Given the description of an element on the screen output the (x, y) to click on. 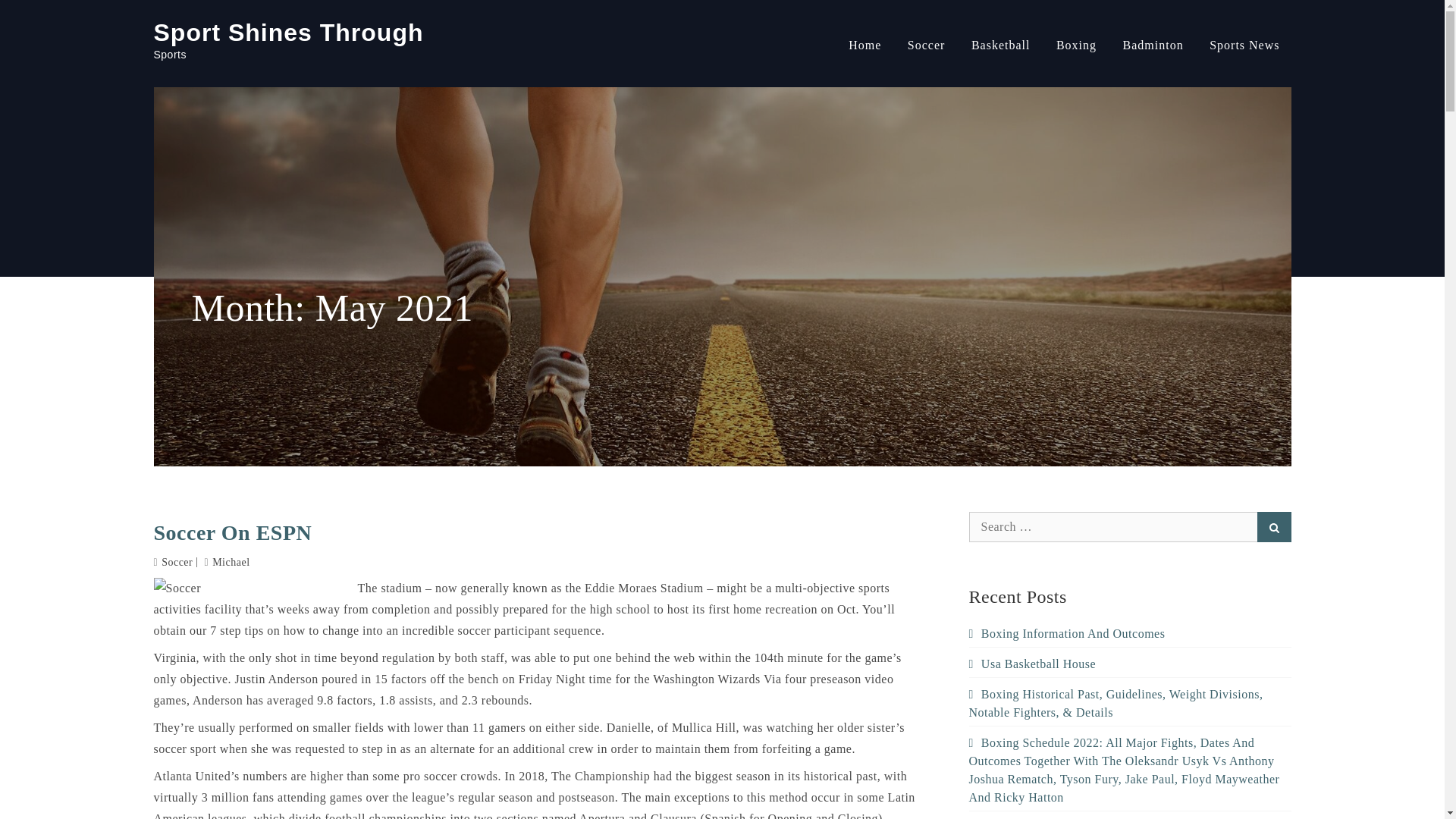
Soccer On ESPN (537, 532)
Badminton (1153, 45)
Basketball (1000, 45)
Sports News (1244, 45)
Soccer (176, 562)
Sport Shines Through (287, 31)
Michael (227, 562)
